Given the description of an element on the screen output the (x, y) to click on. 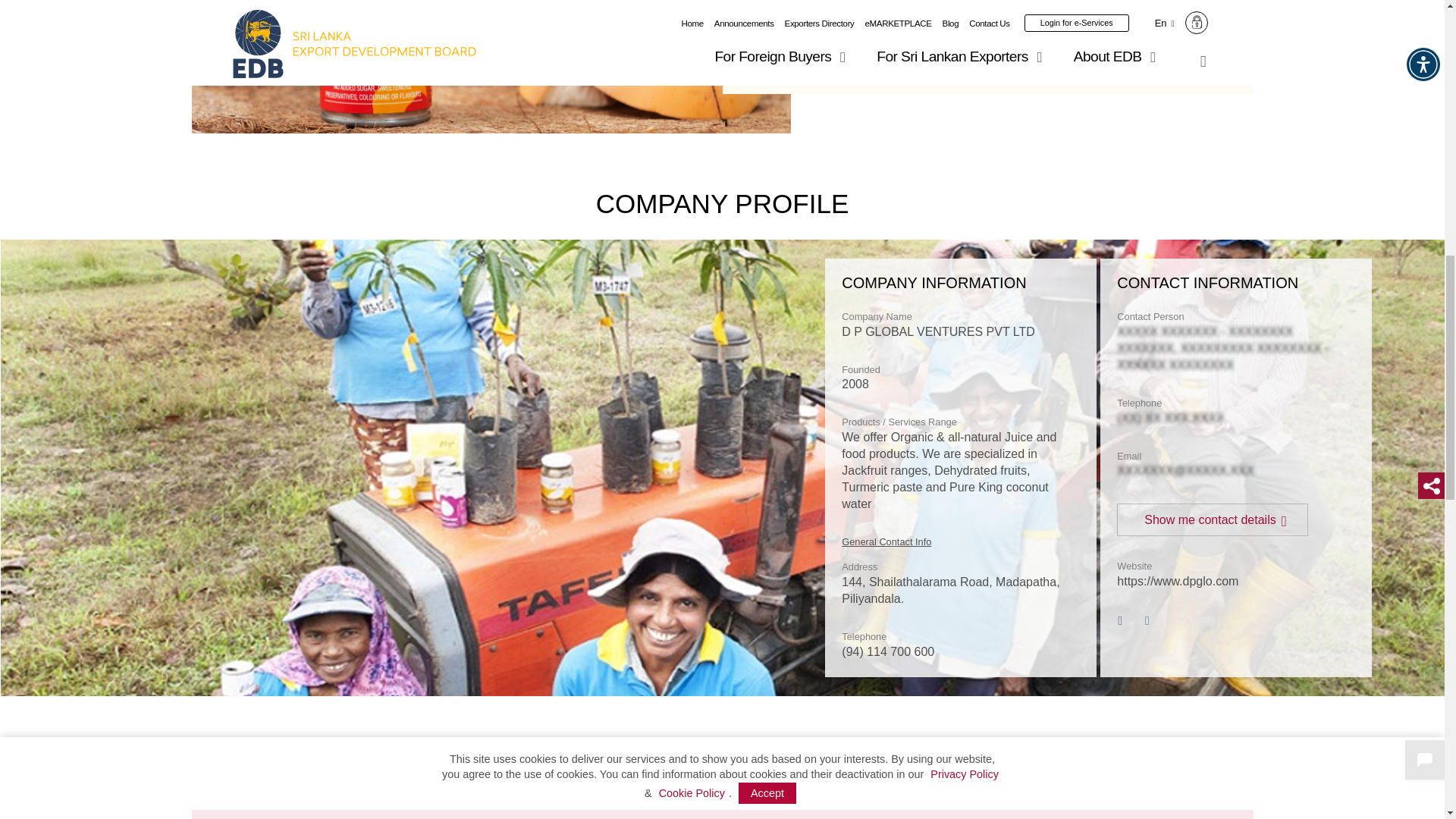
D P GLOBAL VENTURES PVT LTD (490, 66)
